Given the description of an element on the screen output the (x, y) to click on. 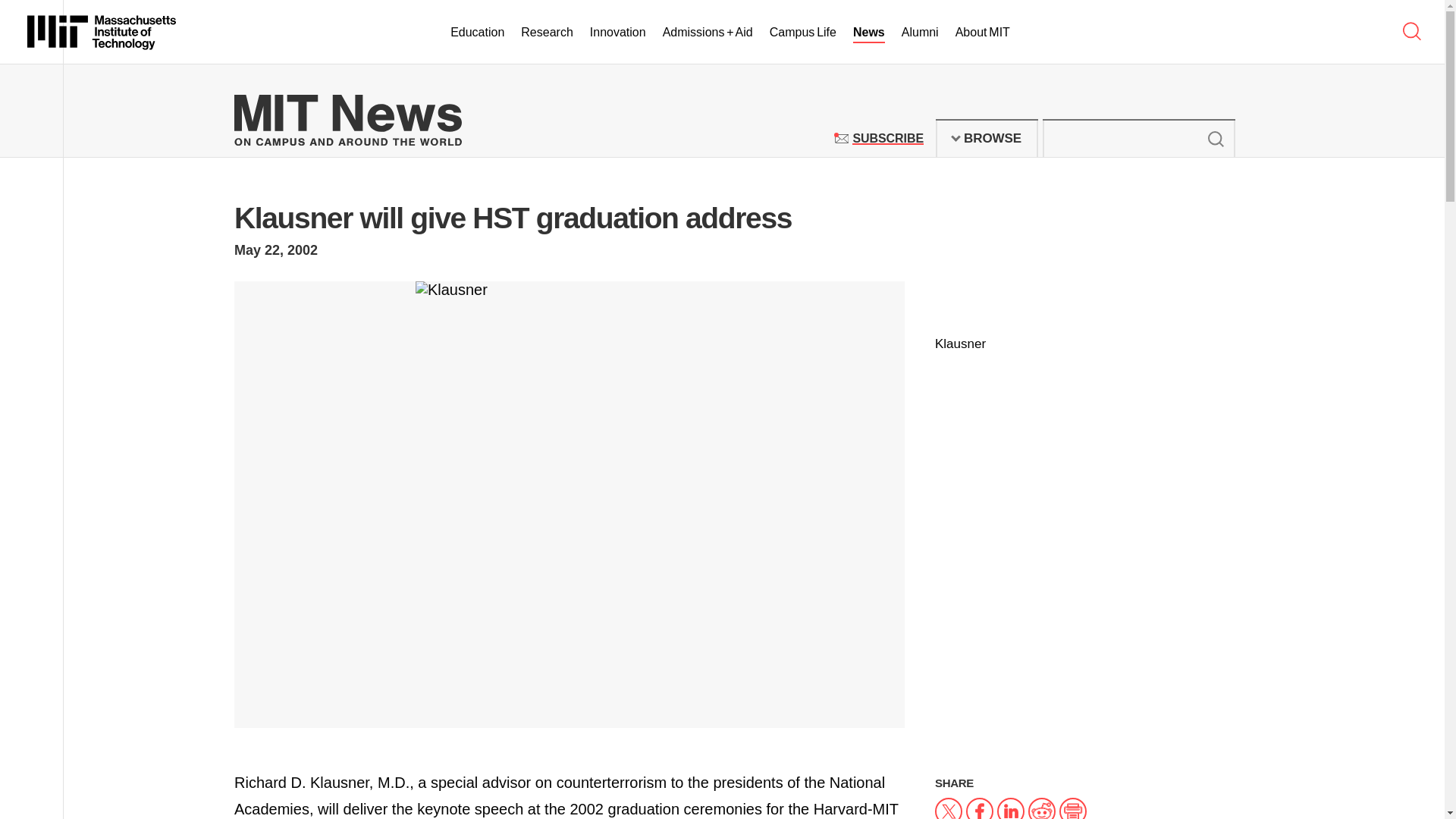
Campus Life (802, 32)
Research (887, 137)
Alumni (546, 32)
Innovation (920, 32)
Education (617, 32)
BROWSE (476, 32)
News (987, 138)
Massachusetts Institute of Technology (869, 32)
About MIT (101, 32)
Submit (982, 32)
